Given the description of an element on the screen output the (x, y) to click on. 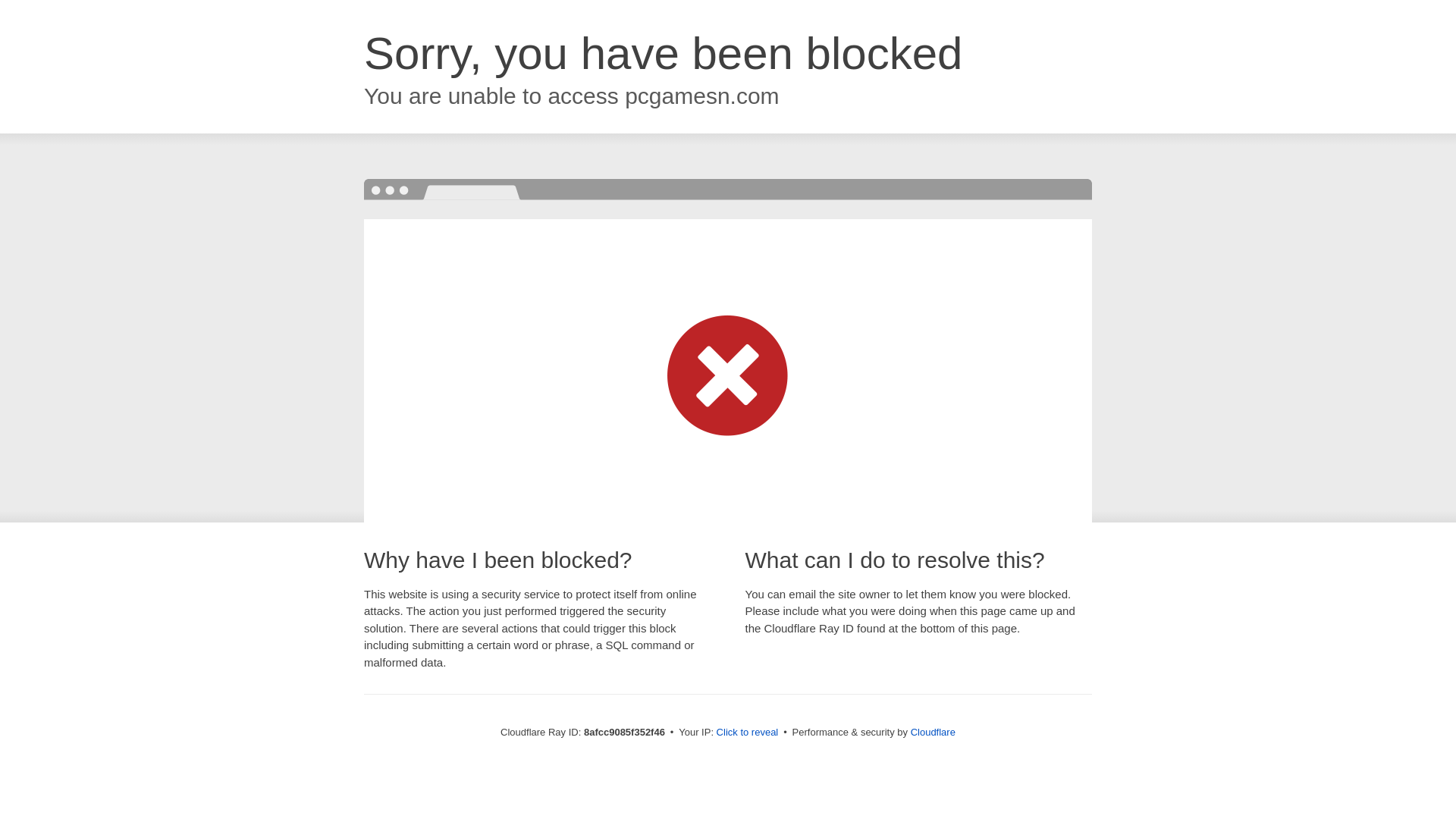
Cloudflare (933, 731)
Click to reveal (747, 732)
